Given the description of an element on the screen output the (x, y) to click on. 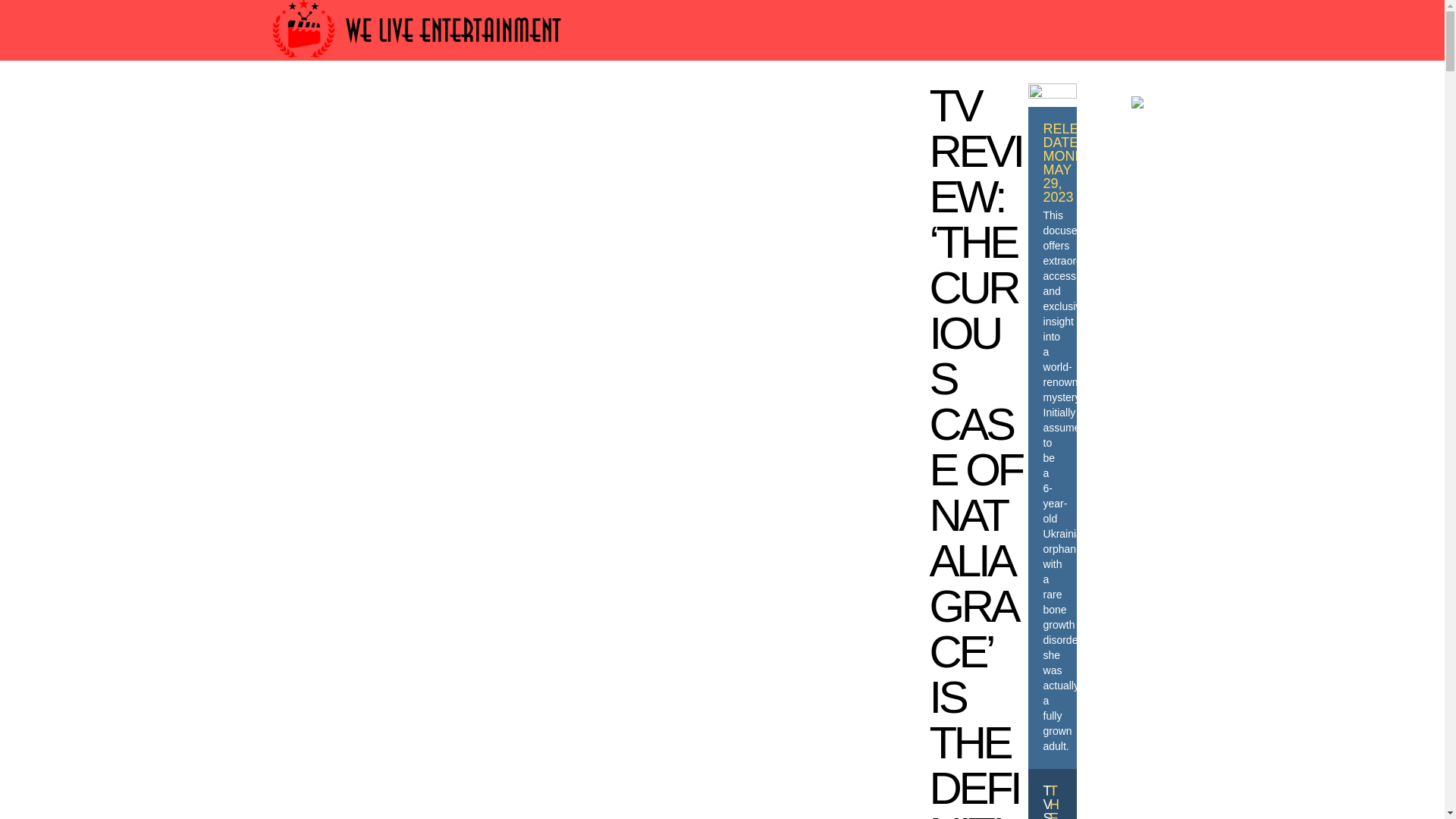
WE LIVE ENTERTAINMENT (841, 103)
HOME (325, 103)
WE LIVE FILM (542, 103)
We Live Entertainment (418, 63)
WE LIVE AWARDS (421, 103)
WE LIVE TV SHOWS (671, 103)
